Given the description of an element on the screen output the (x, y) to click on. 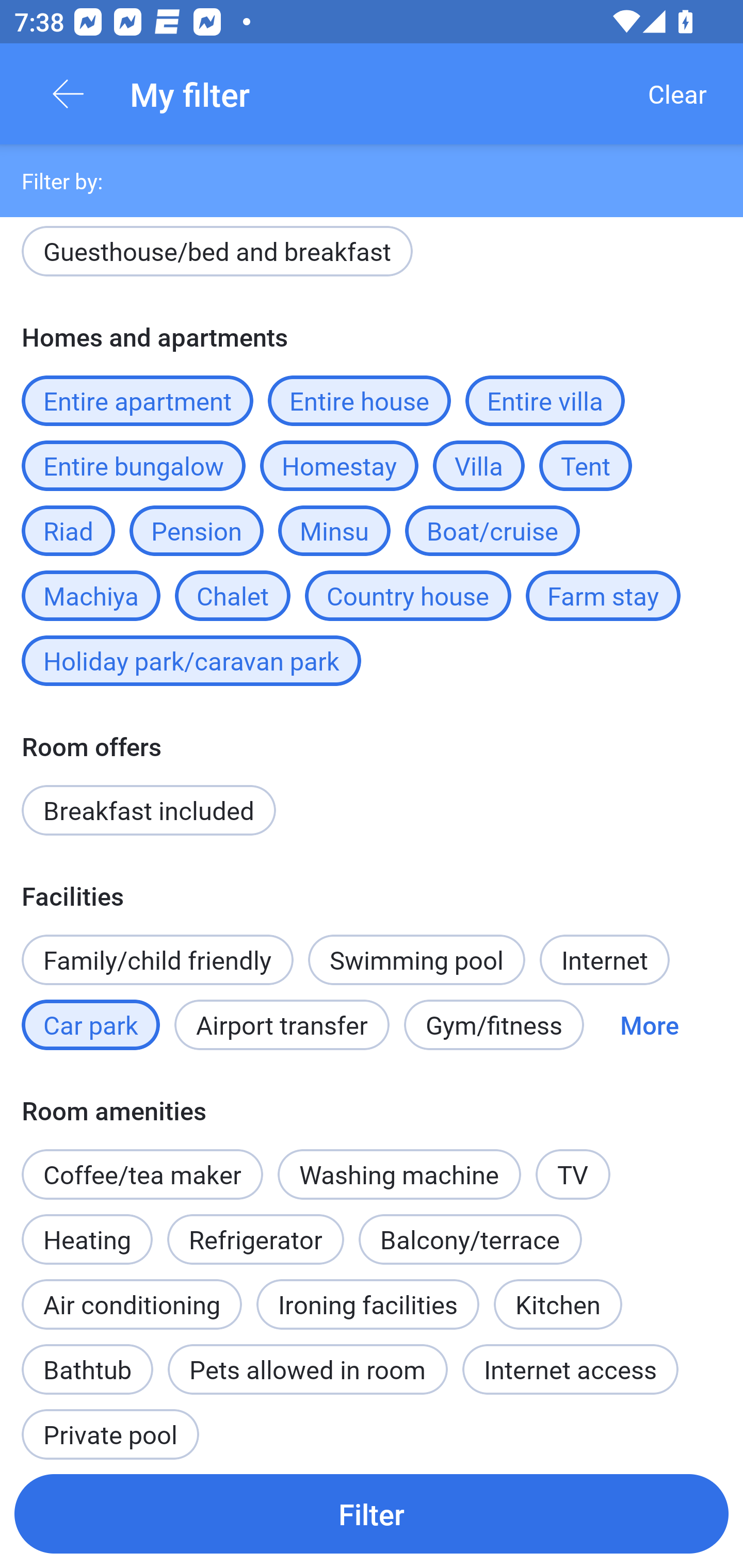
Clear (676, 93)
Guesthouse/bed and breakfast (217, 255)
Breakfast included (148, 809)
Family/child friendly (157, 960)
Swimming pool (416, 960)
Internet (604, 960)
Airport transfer (281, 1024)
Gym/fitness (493, 1024)
More (649, 1024)
Coffee/tea maker (142, 1174)
Washing machine (398, 1174)
TV (572, 1174)
Heating (87, 1228)
Refrigerator (255, 1239)
Balcony/terrace (469, 1239)
Air conditioning (131, 1304)
Ironing facilities (367, 1304)
Kitchen (558, 1293)
Bathtub (87, 1358)
Pets allowed in room (307, 1369)
Internet access (570, 1369)
Private pool (110, 1424)
Filter (371, 1513)
